Given the description of an element on the screen output the (x, y) to click on. 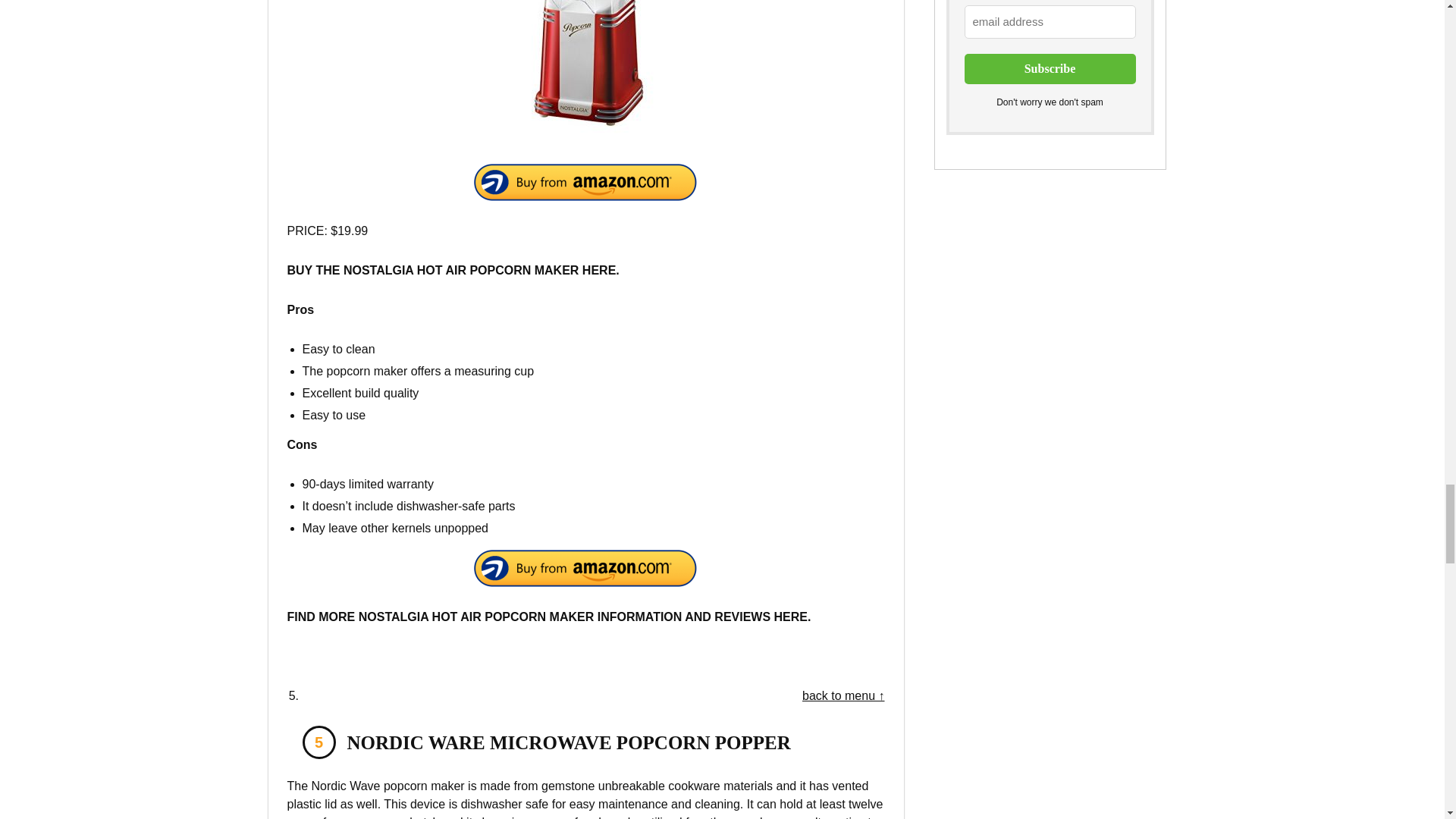
Subscribe (1049, 69)
